Given the description of an element on the screen output the (x, y) to click on. 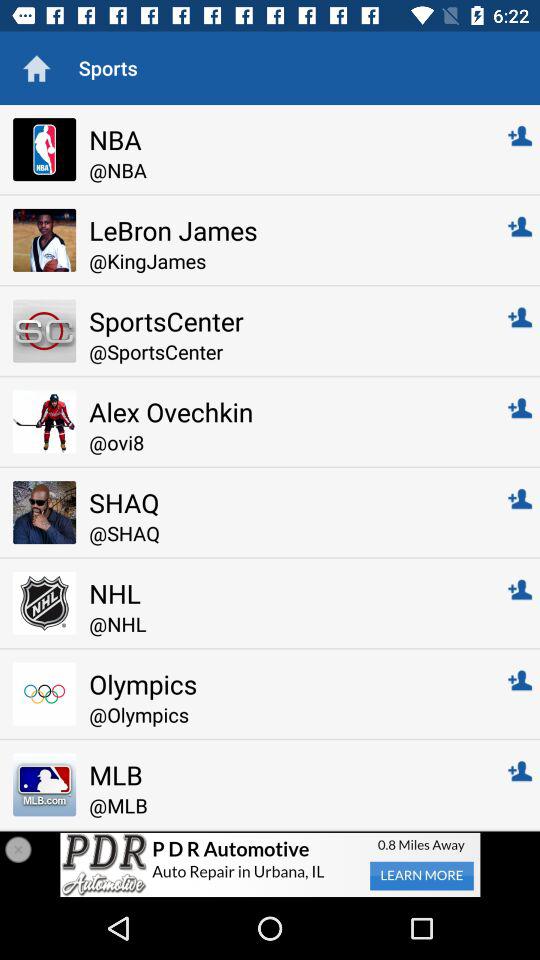
turn on @kingjames (284, 260)
